Given the description of an element on the screen output the (x, y) to click on. 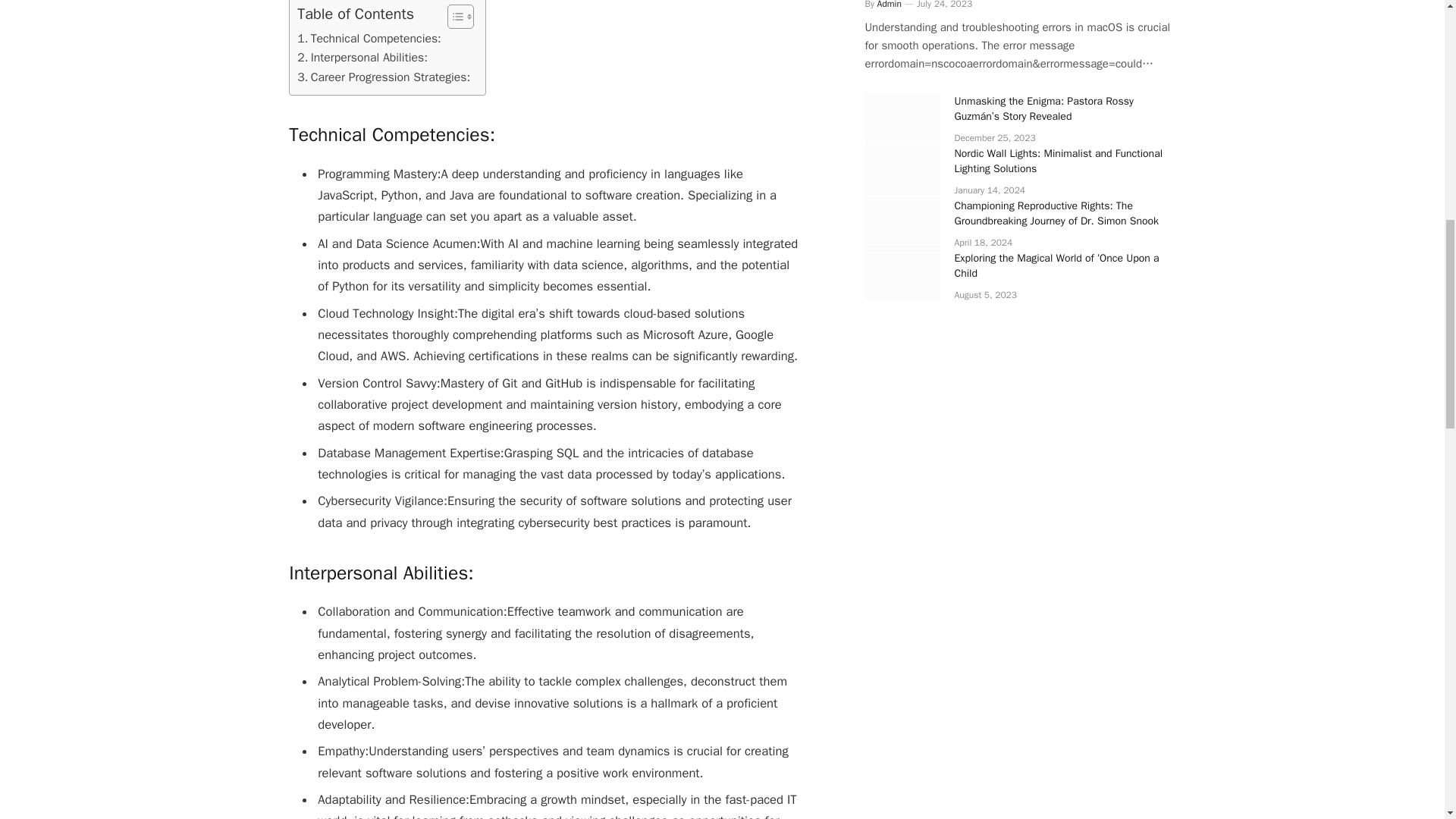
Technical Competencies: (369, 38)
Interpersonal Abilities: (362, 57)
